Given the description of an element on the screen output the (x, y) to click on. 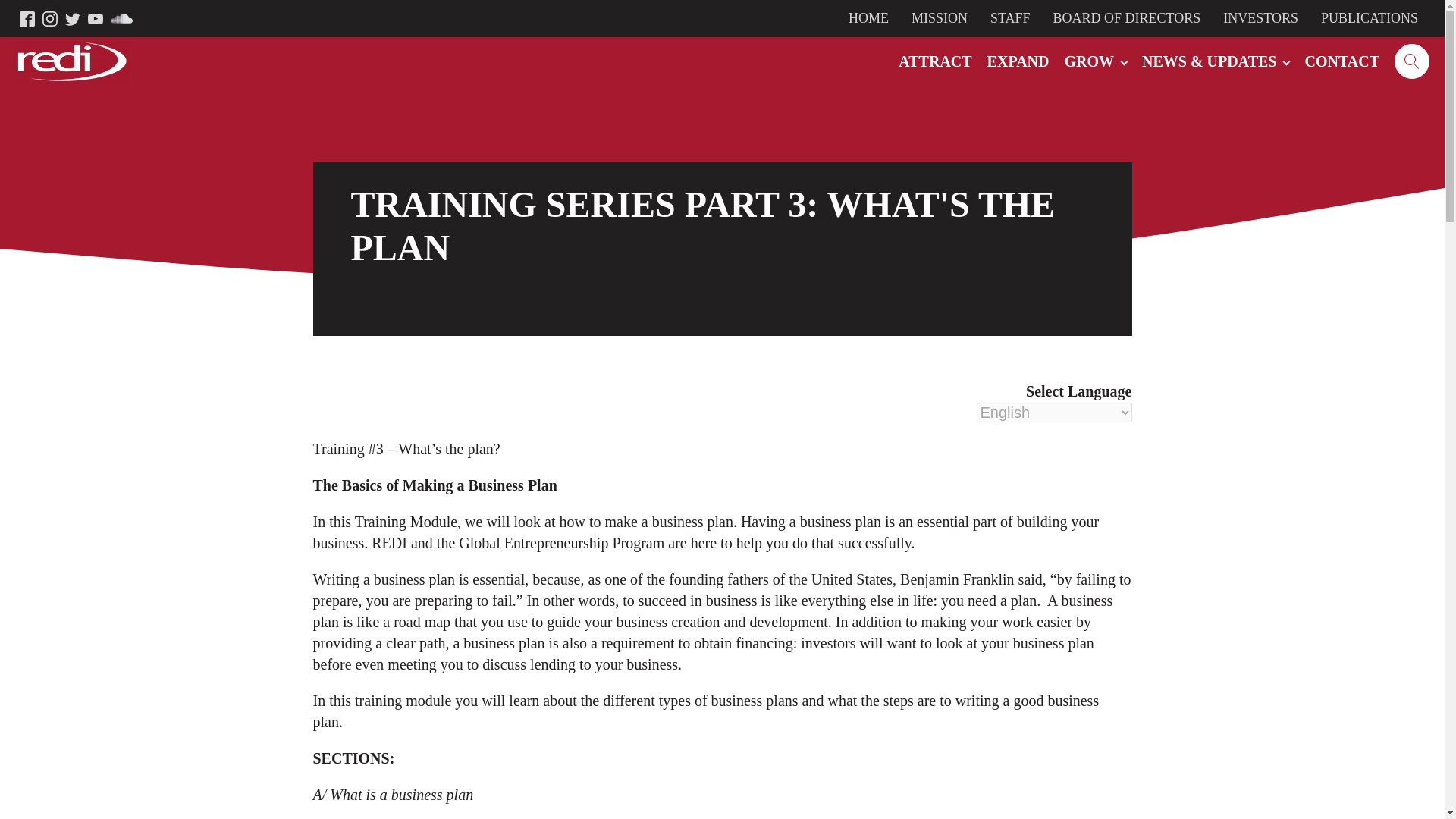
MISSION (939, 18)
INVESTORS (1260, 18)
STAFF (1010, 18)
ATTRACT (934, 61)
CONTACT (1342, 61)
BOARD OF DIRECTORS (1127, 18)
EXPAND (1018, 61)
GROW (1095, 61)
PUBLICATIONS (1369, 18)
HOME (868, 18)
